Given the description of an element on the screen output the (x, y) to click on. 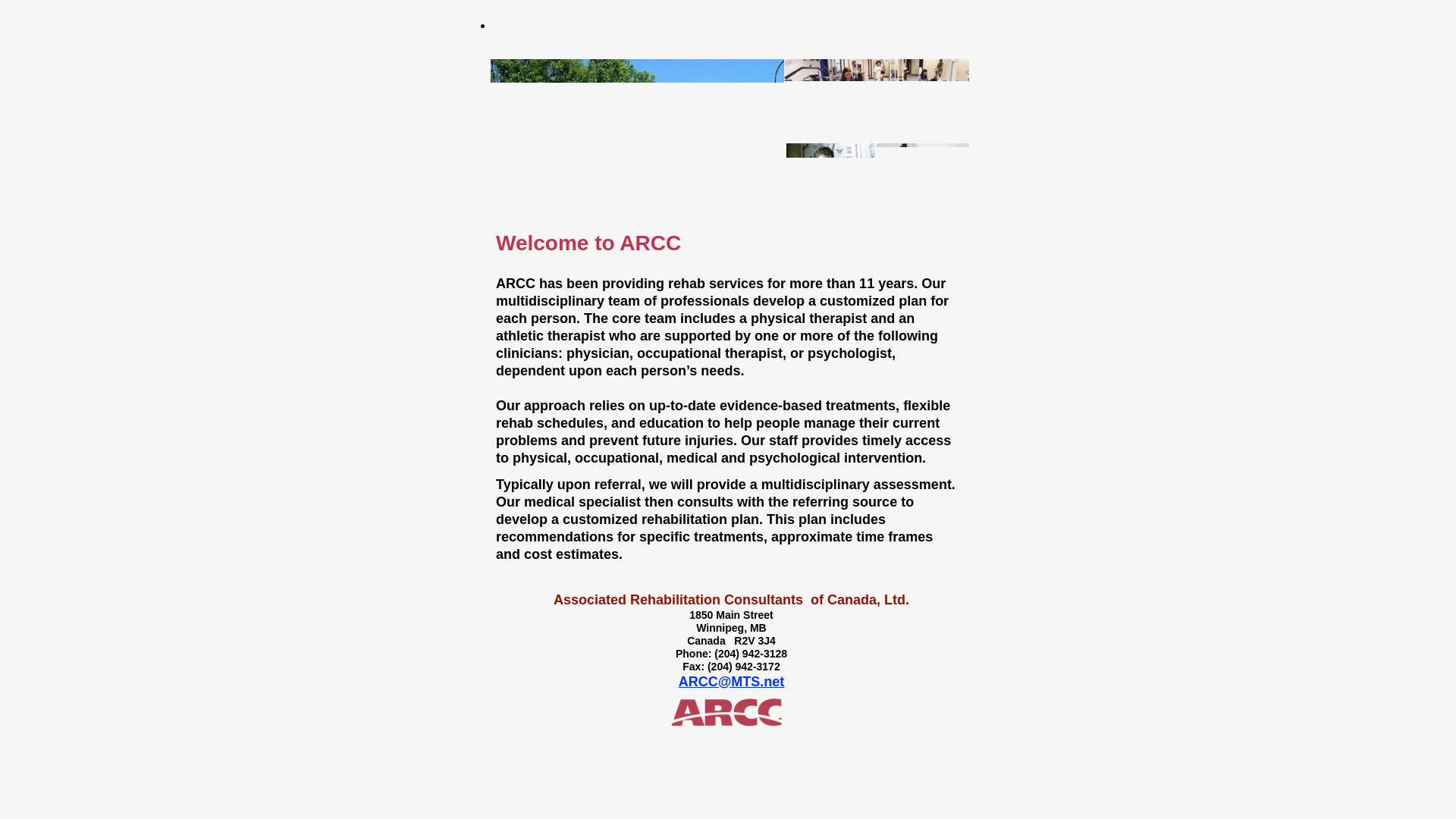
ARCC@MTS.net Element type: text (731, 681)
